Given the description of an element on the screen output the (x, y) to click on. 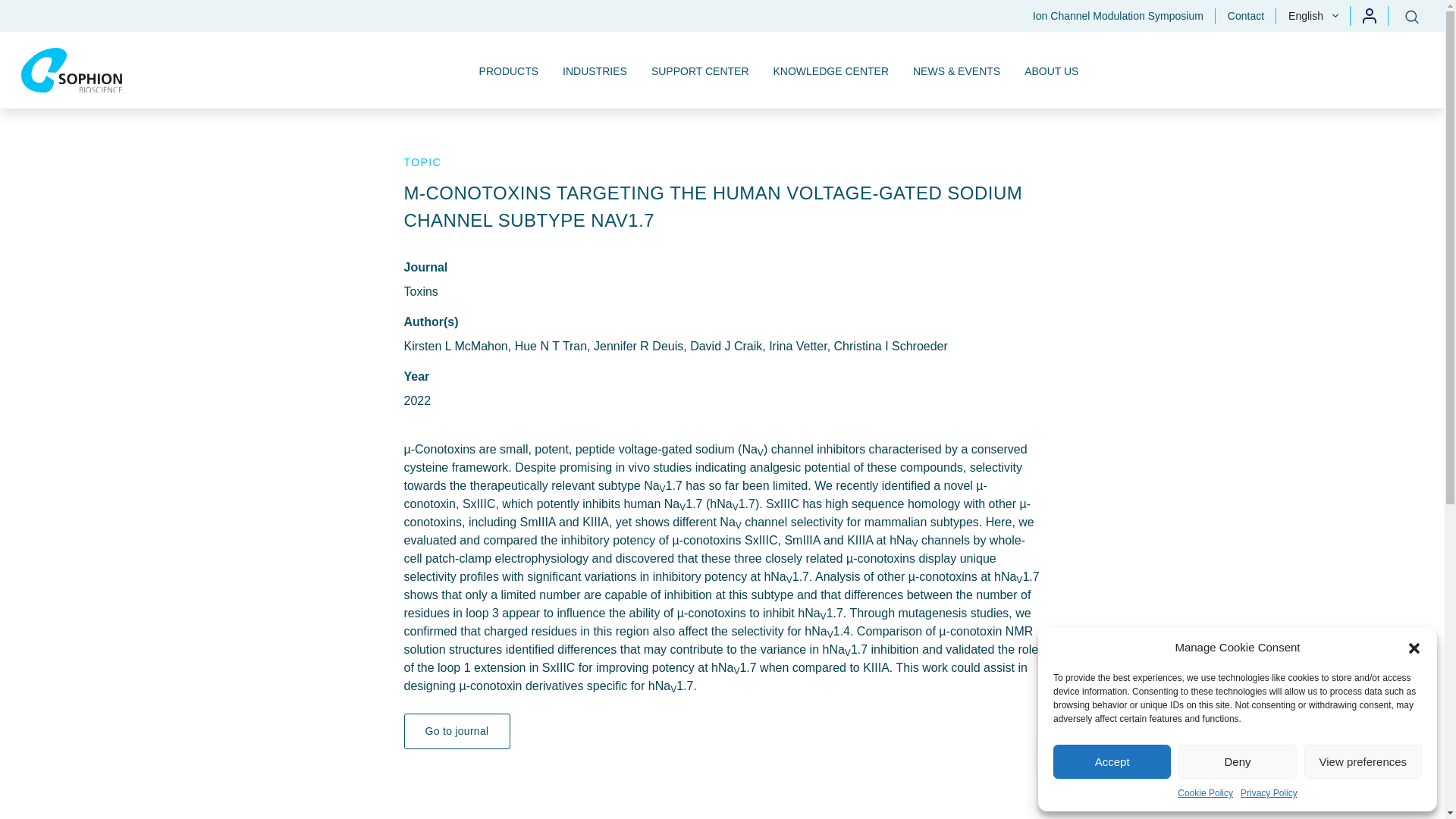
Accept (1111, 761)
PRODUCTS (509, 69)
Cookie Policy (1205, 793)
Contact (1245, 15)
ENGLISH (1308, 44)
View preferences (1363, 761)
Privacy Policy (1268, 793)
Deny (1236, 761)
Ion Channel Modulation Symposium (1117, 15)
